Given the description of an element on the screen output the (x, y) to click on. 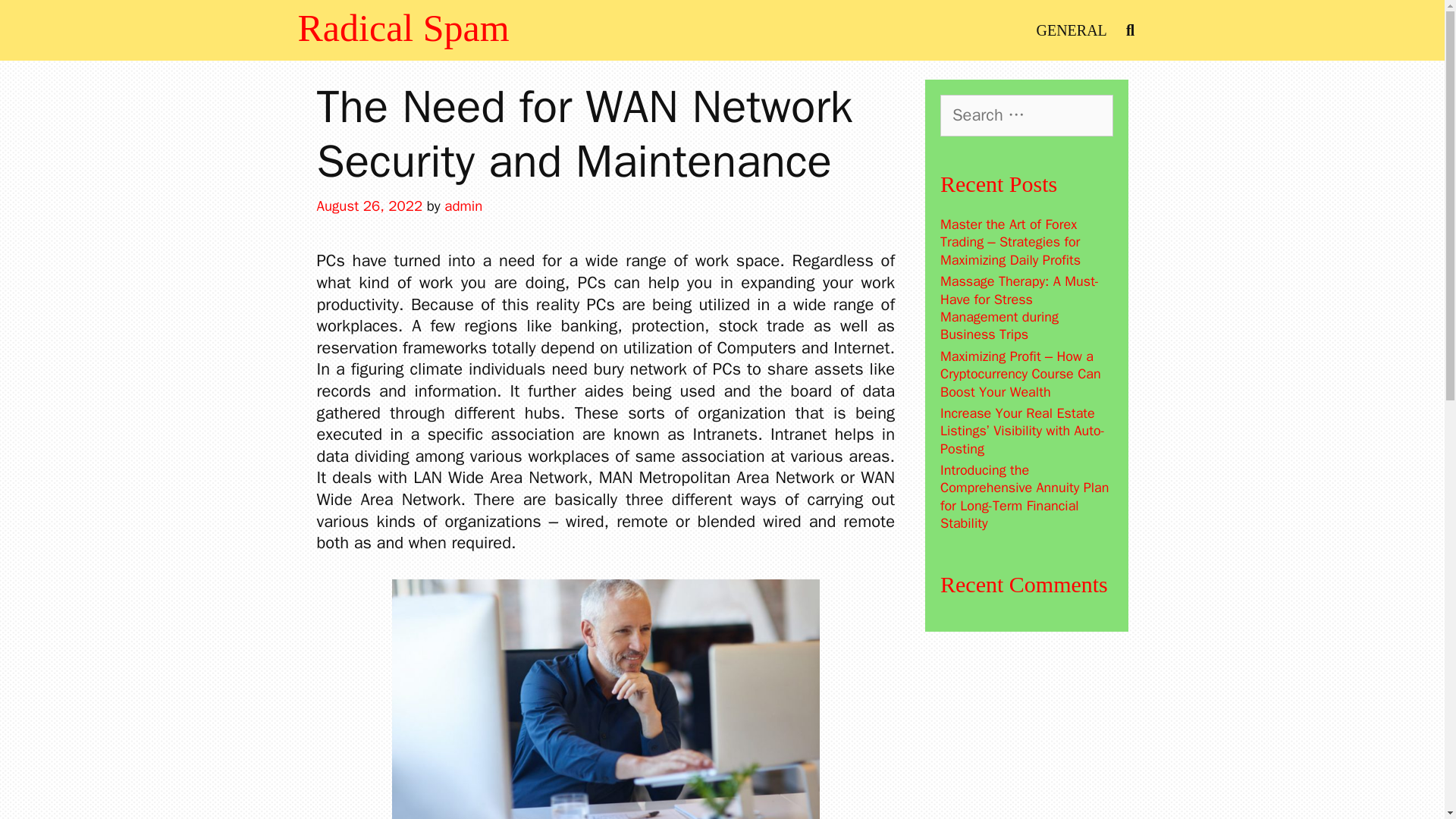
Radical Spam (402, 27)
August 26, 2022 (370, 206)
Search (58, 26)
Search for: (1026, 115)
GENERAL (1071, 30)
5:26 am (370, 206)
Search (37, 20)
View all posts by admin (462, 206)
